Given the description of an element on the screen output the (x, y) to click on. 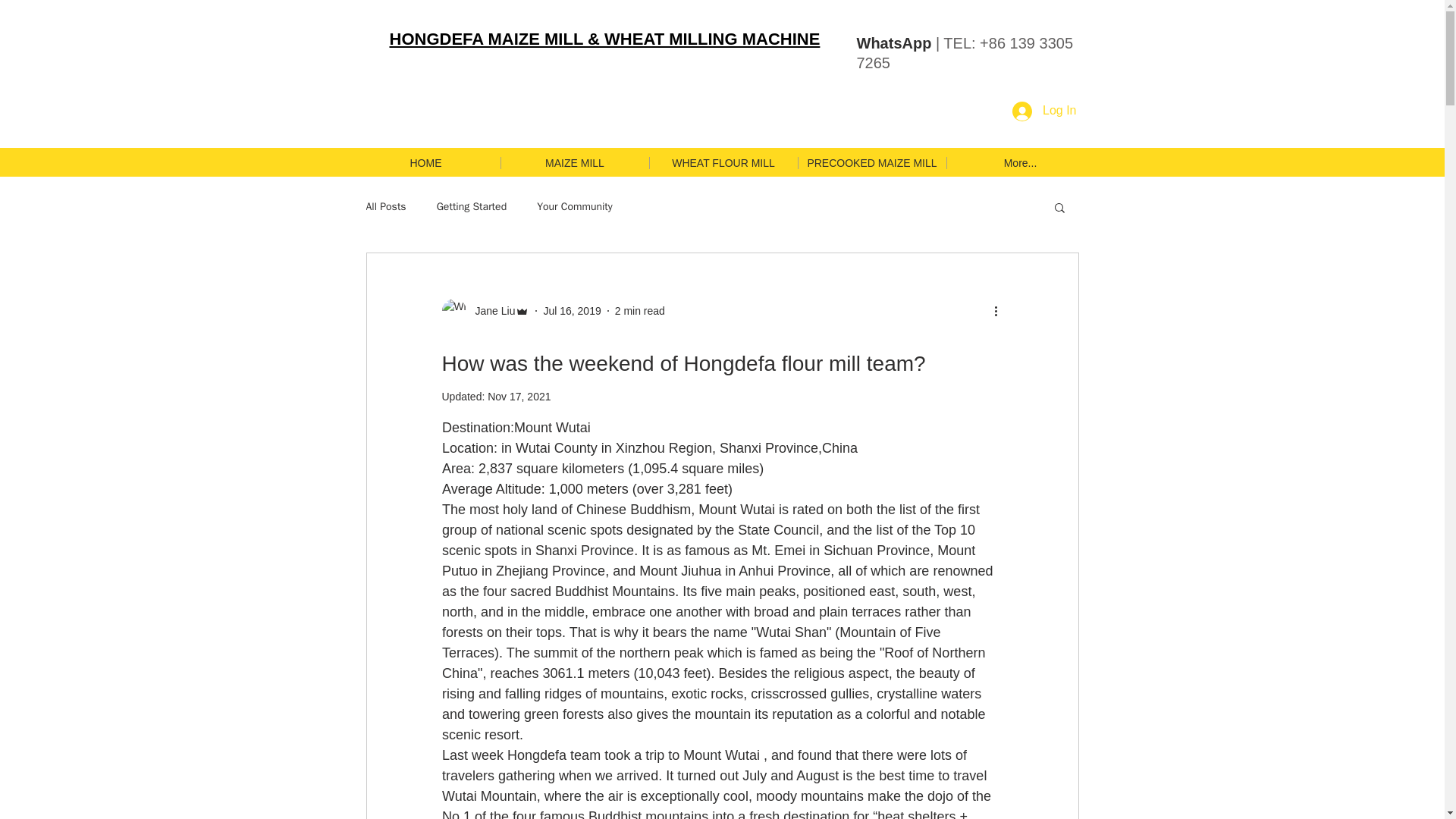
Jane Liu (490, 311)
MAIZE MILL (574, 162)
HOME (426, 162)
2 min read (639, 310)
Getting Started (471, 206)
Log In (1043, 111)
PRECOOKED MAIZE MILL (871, 162)
Nov 17, 2021 (518, 396)
WHEAT FLOUR MILL (723, 162)
Jul 16, 2019 (571, 310)
